Given the description of an element on the screen output the (x, y) to click on. 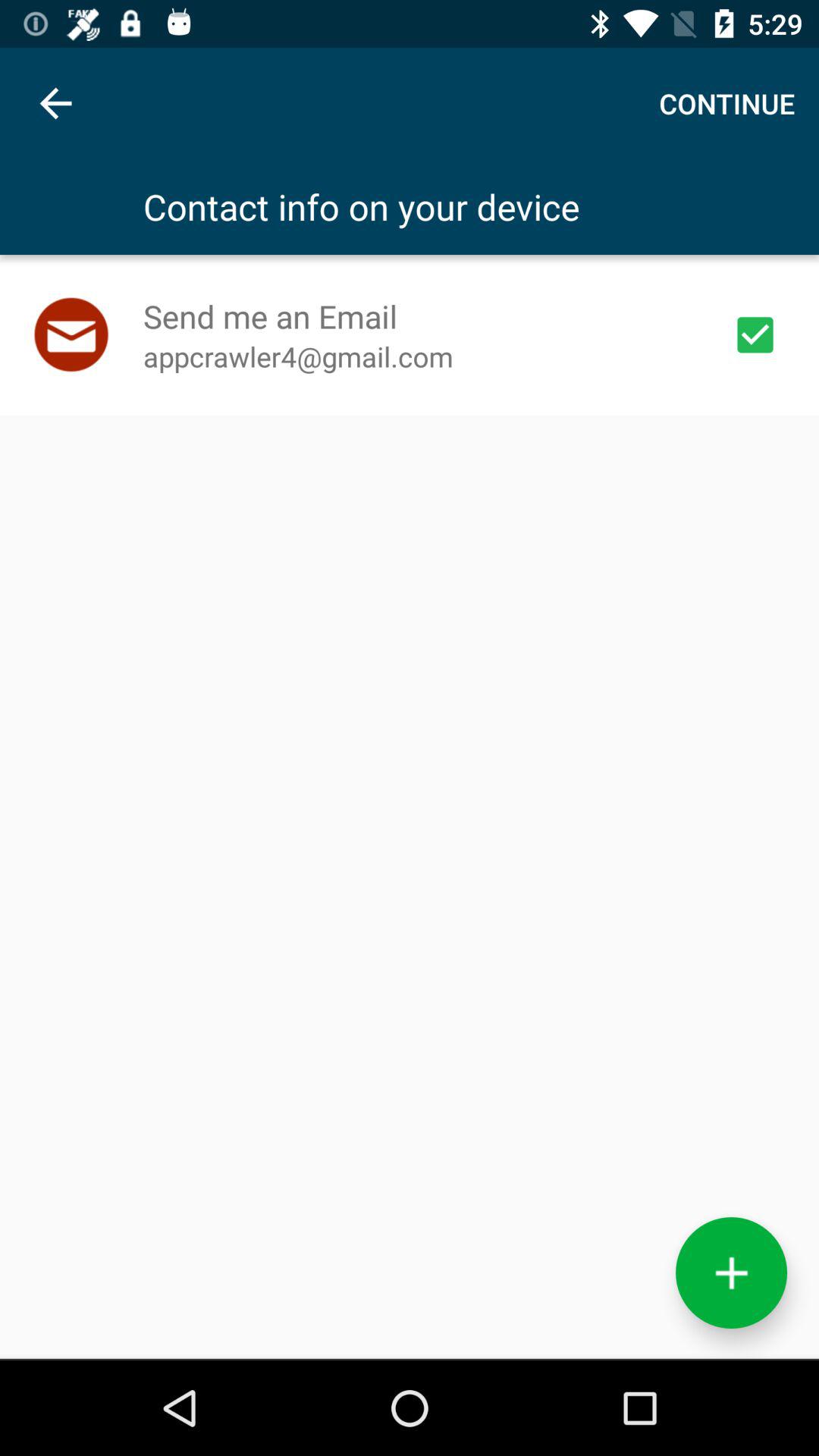
select item at the bottom right corner (731, 1272)
